Given the description of an element on the screen output the (x, y) to click on. 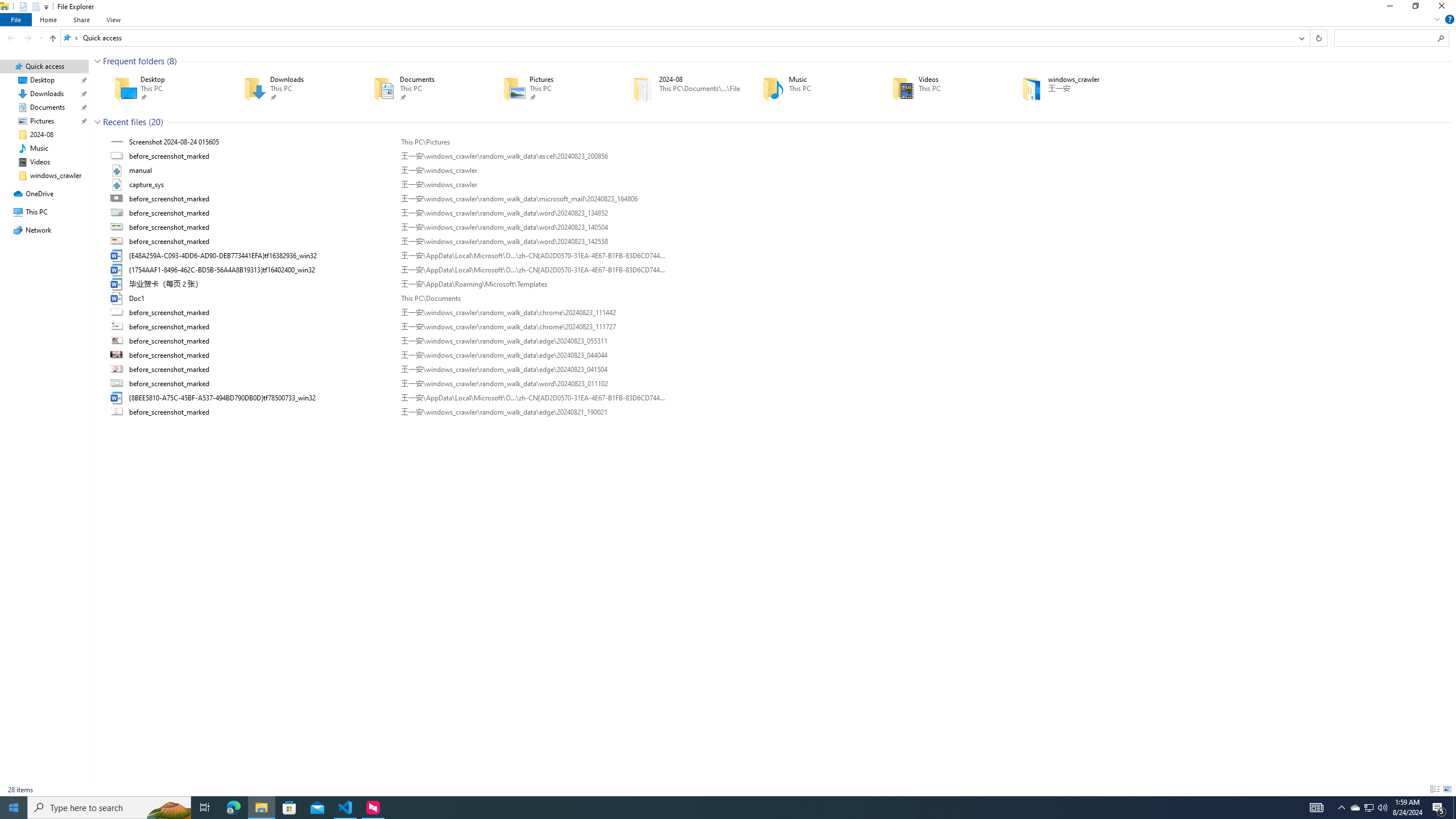
Videos (940, 88)
Up to "Desktop" (Alt + Up Arrow) (52, 38)
Search Box (1386, 37)
View (113, 19)
Details (1434, 789)
capture_sys (777, 184)
Doc1 (777, 298)
Refresh "Quick access" (F5) (1318, 37)
File tab (16, 19)
Desktop (162, 88)
Count (155, 121)
Back (Alt + Left Arrow) (10, 37)
Up band toolbar (52, 39)
Downloads (292, 88)
